Given the description of an element on the screen output the (x, y) to click on. 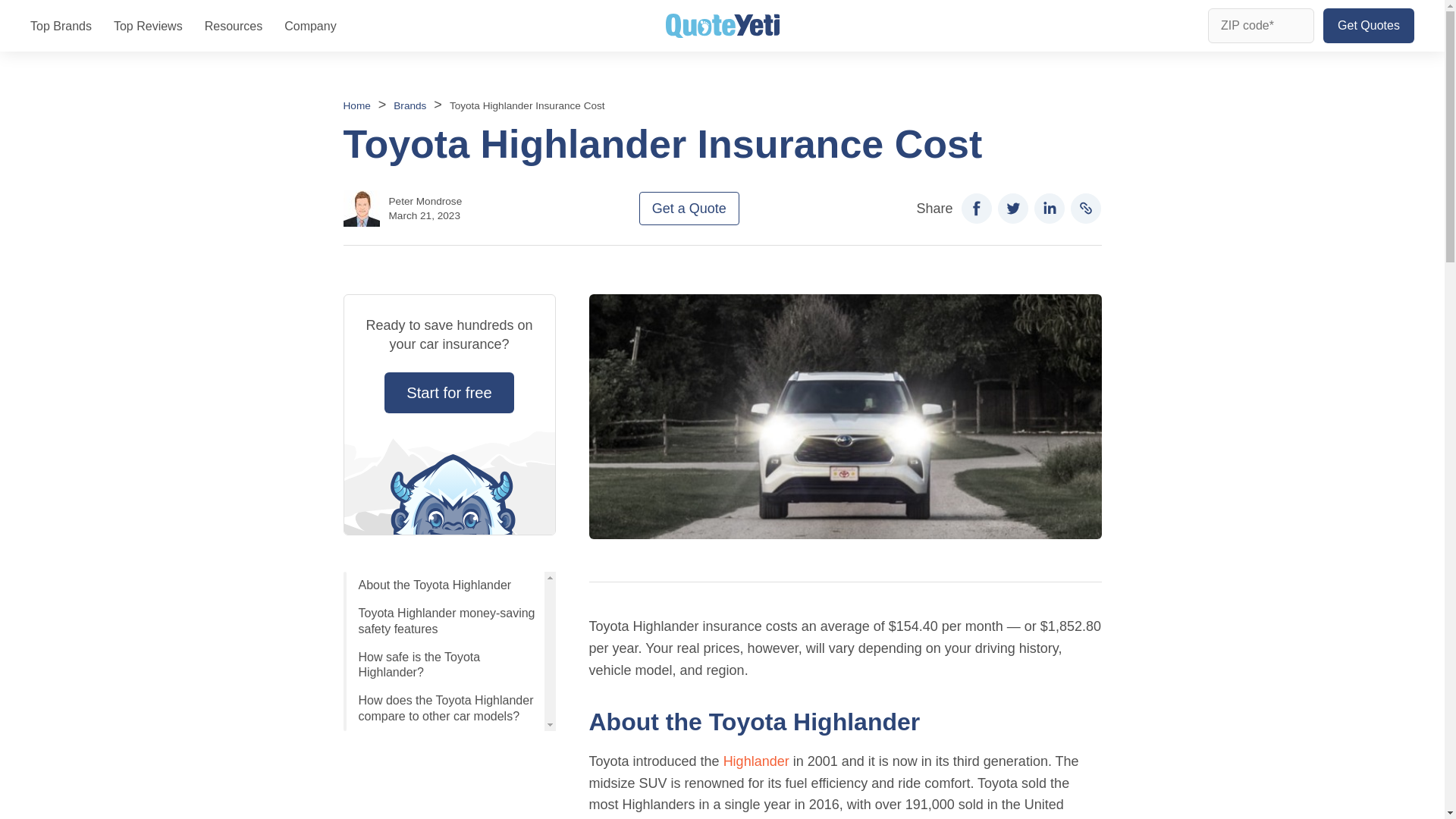
Top Reviews (148, 25)
Company (309, 25)
Top Brands (60, 25)
March 21, 2023 (424, 215)
Resources (233, 25)
Get Quotes (1368, 25)
